Given the description of an element on the screen output the (x, y) to click on. 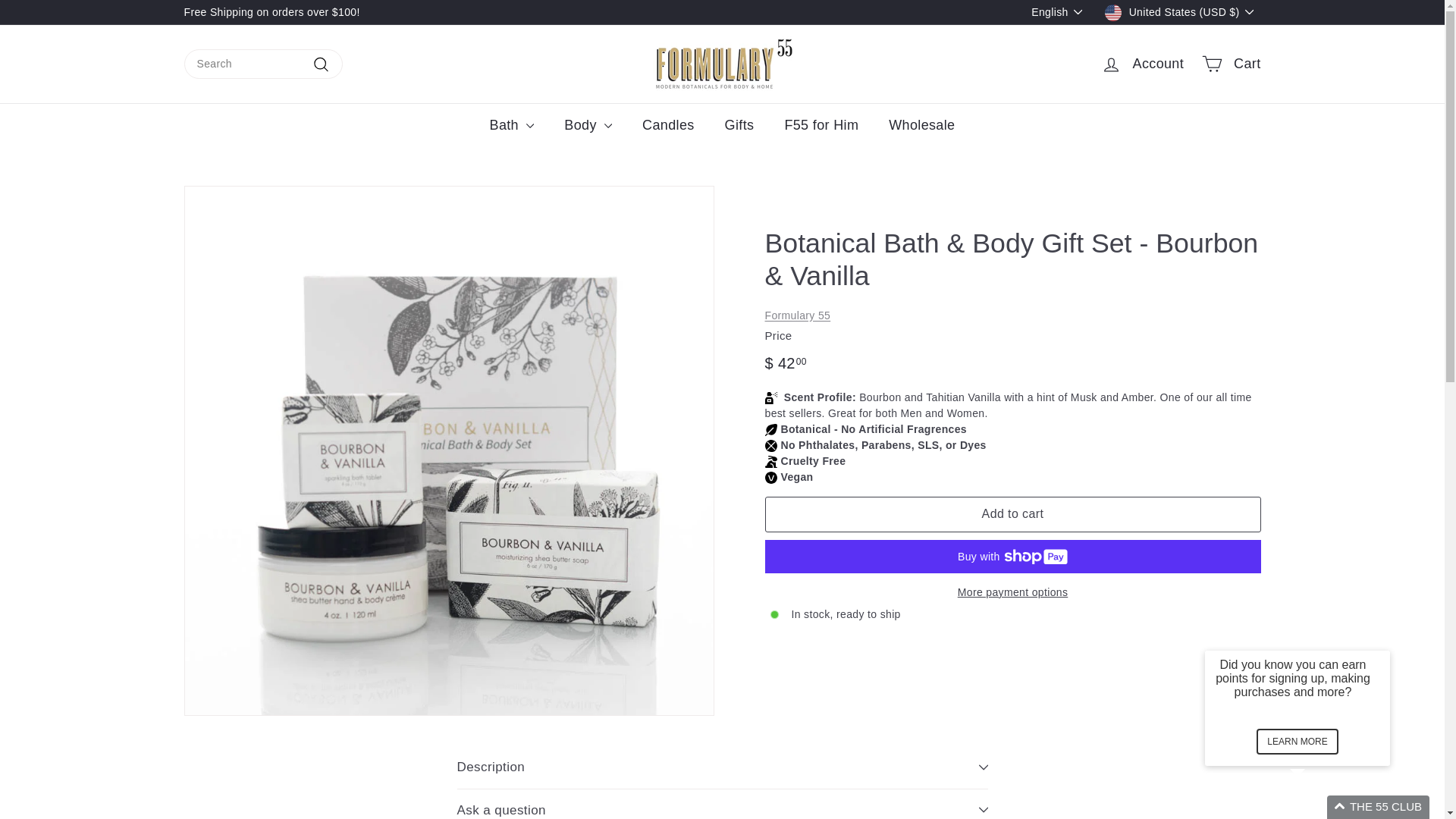
English (1059, 12)
